Given the description of an element on the screen output the (x, y) to click on. 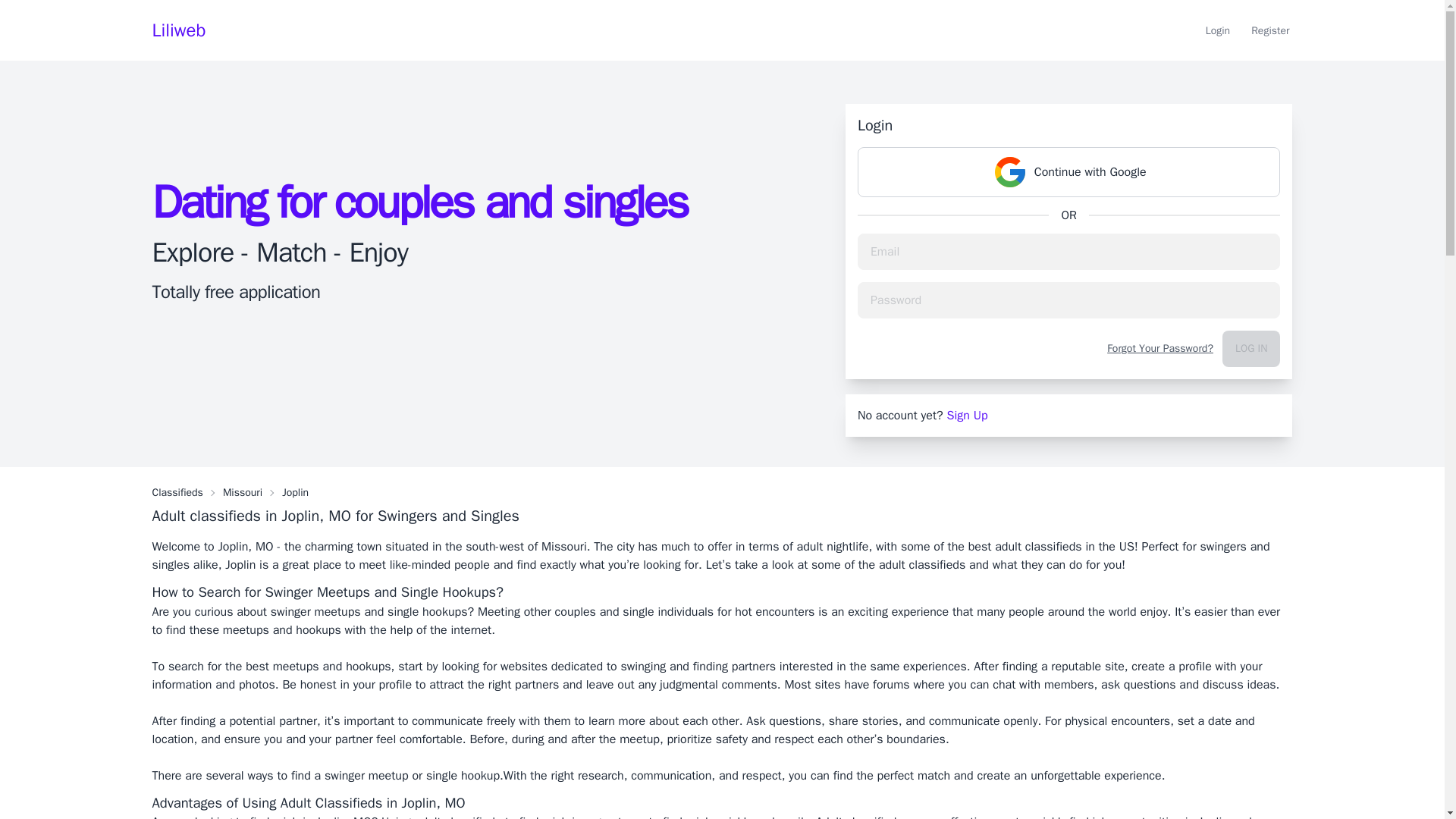
Forgot Your Password? (1159, 348)
Login (1217, 30)
Sign Up (966, 415)
Missouri (242, 492)
Liliweb (178, 30)
Classifieds (176, 492)
Continue with Google (1069, 172)
Register (1269, 30)
LOG IN (1250, 348)
